Given the description of an element on the screen output the (x, y) to click on. 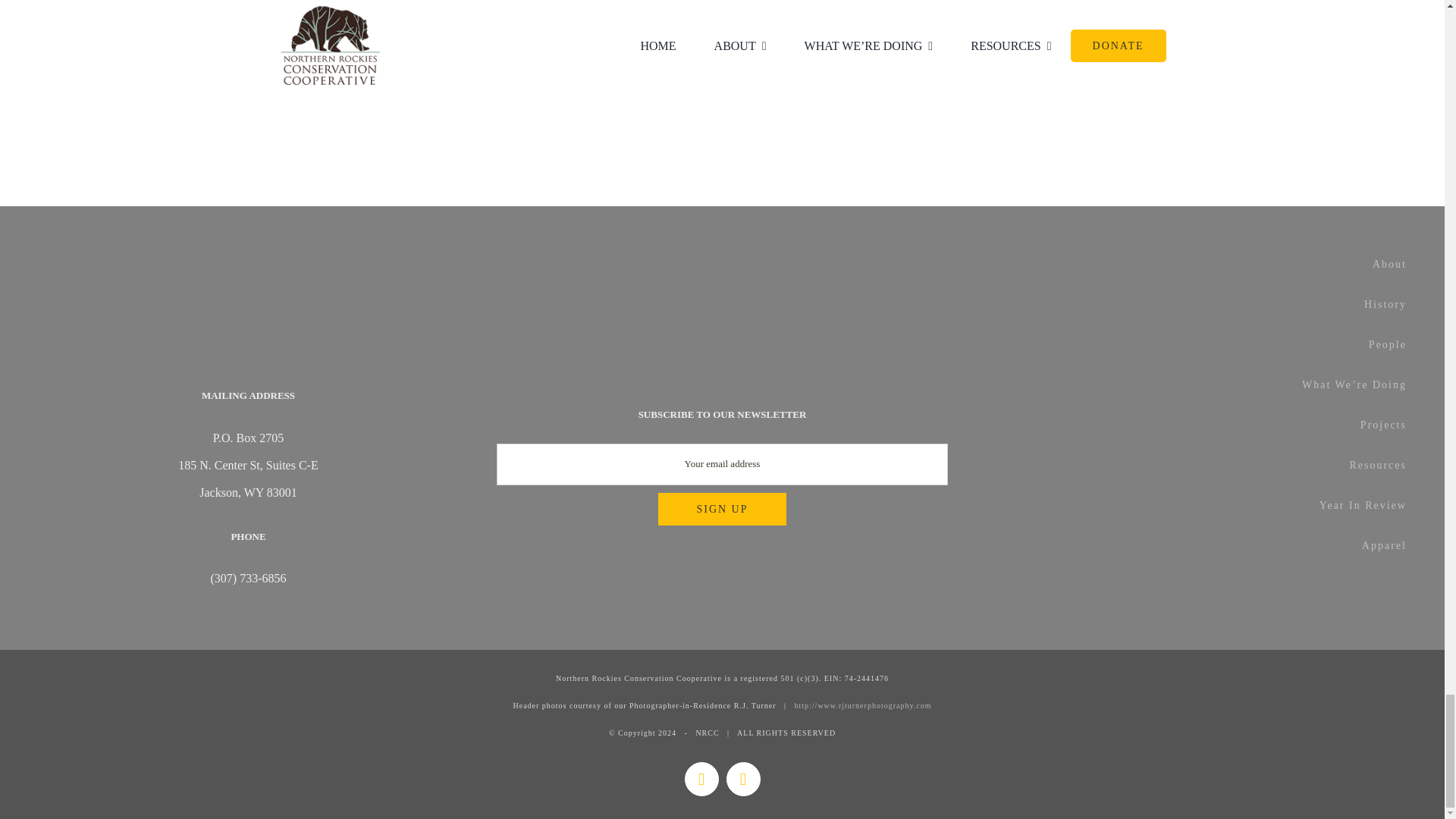
Matt,herding,UP-min (955, 59)
Matt,brownhat,snowy-min (488, 52)
Instagram (743, 779)
Facebook (700, 779)
Sign up (722, 509)
